Given the description of an element on the screen output the (x, y) to click on. 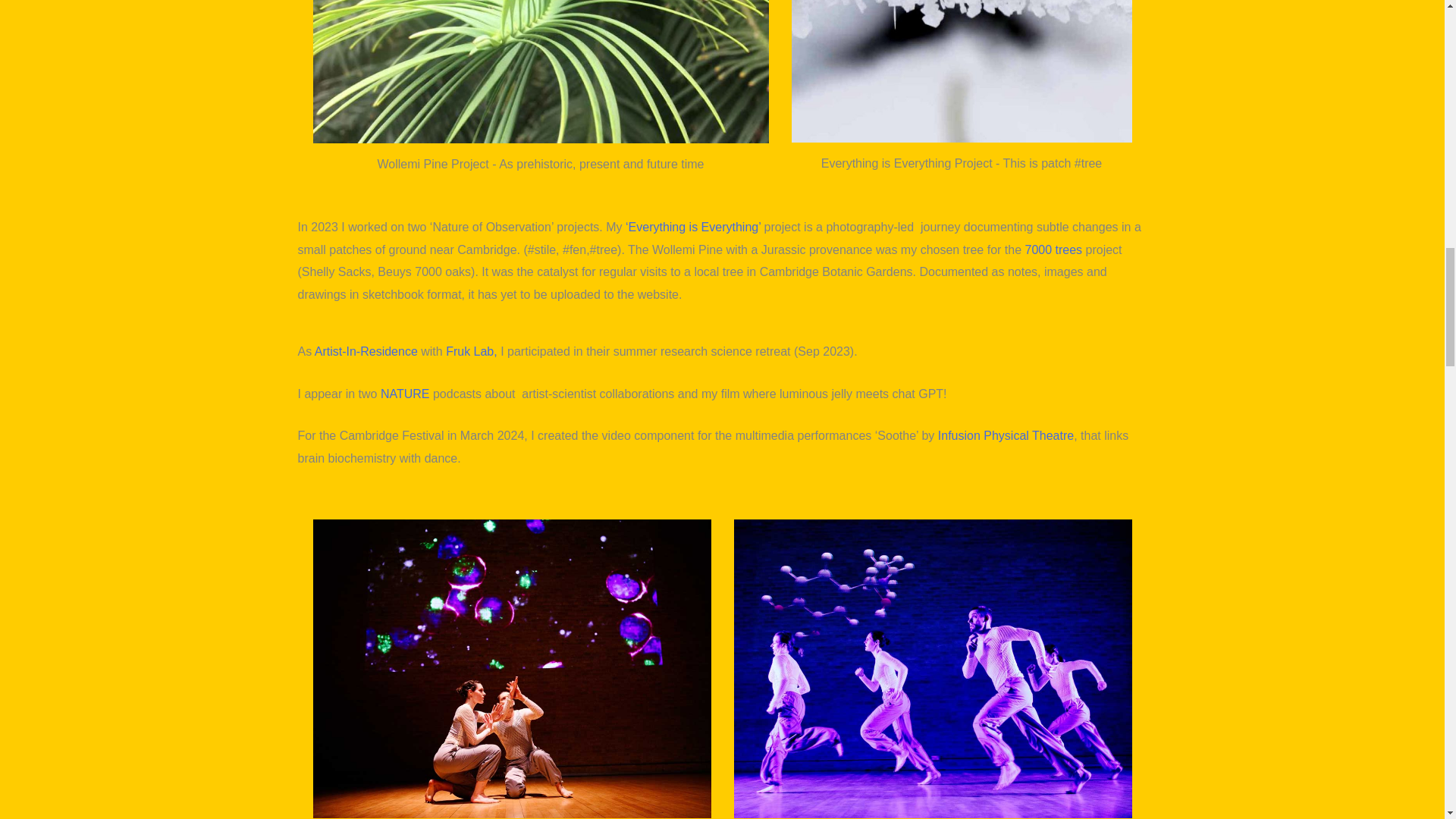
Fruk Lab, (471, 350)
7000 trees (1053, 249)
Artist-In-Residence (365, 350)
NATURE (404, 393)
Infusion Physical Theatre (1005, 435)
